Given the description of an element on the screen output the (x, y) to click on. 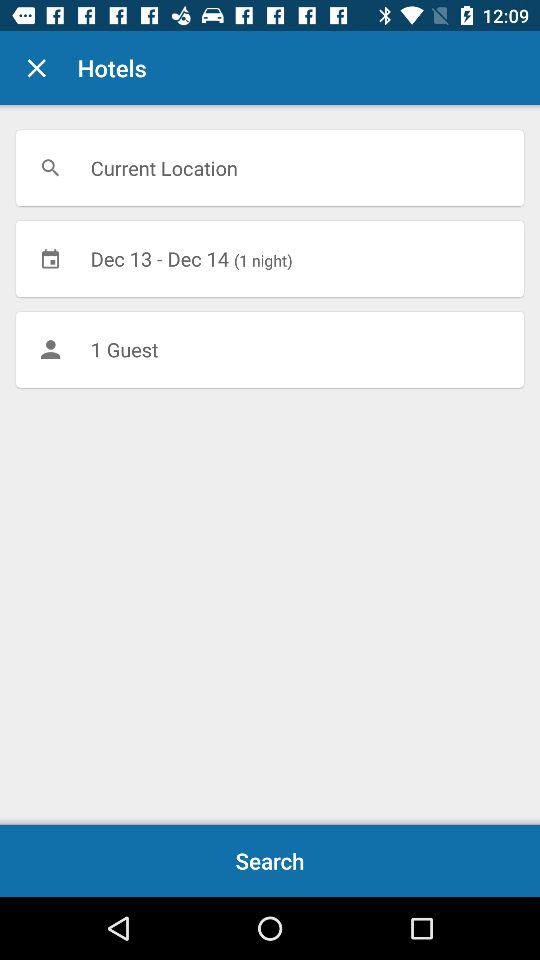
press icon above 1 guest item (269, 258)
